Given the description of an element on the screen output the (x, y) to click on. 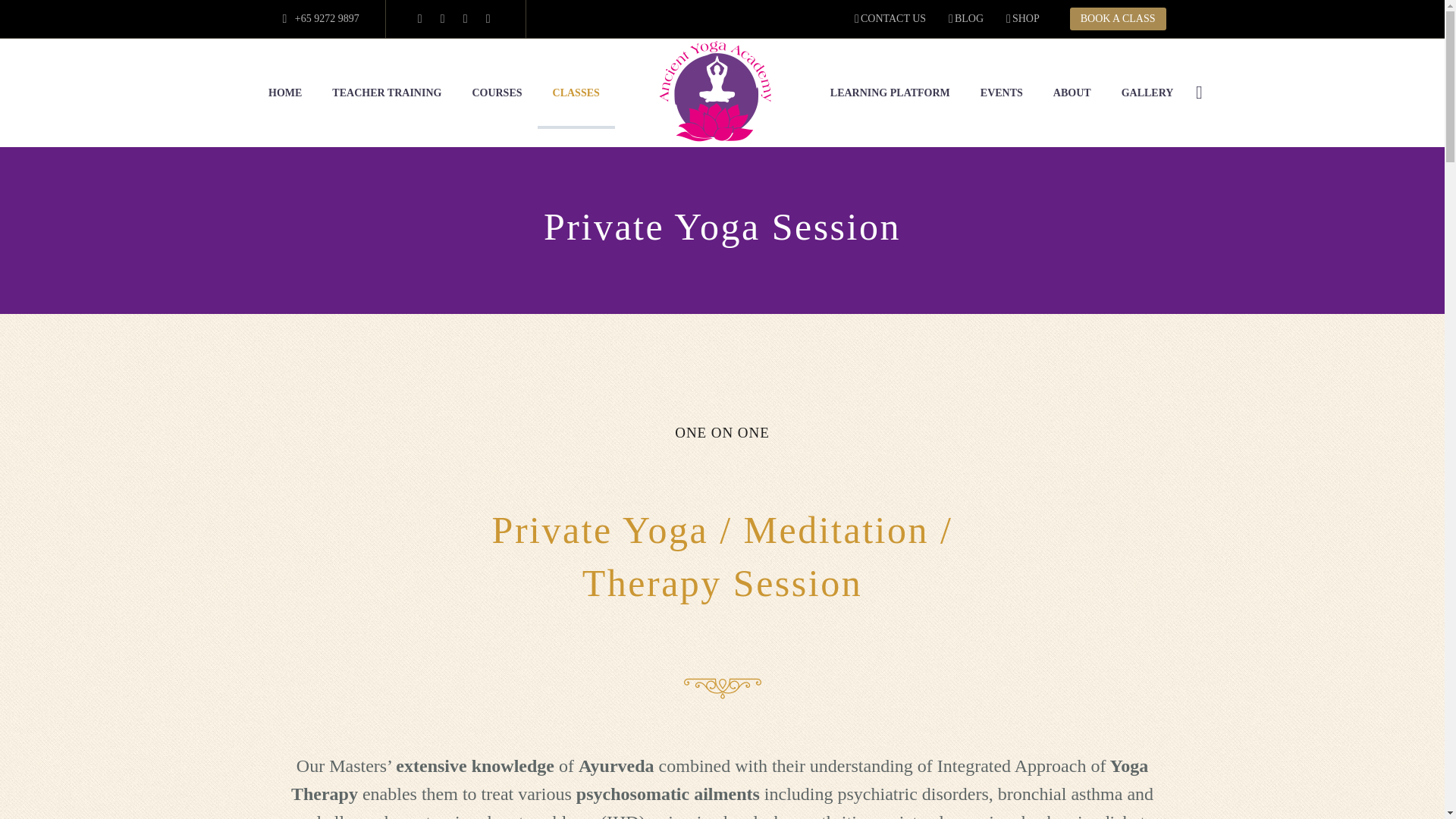
Facebook (419, 19)
SHOP (1022, 18)
LinkedIn (442, 19)
YouTube (488, 19)
BOOK A CLASS (1118, 18)
Instagram (465, 19)
COURSES (497, 92)
LEARNING PLATFORM (890, 92)
CLASSES (575, 92)
BLOG (966, 18)
HOME (285, 92)
TEACHER TRAINING (387, 92)
CONTACT US (890, 18)
